Given the description of an element on the screen output the (x, y) to click on. 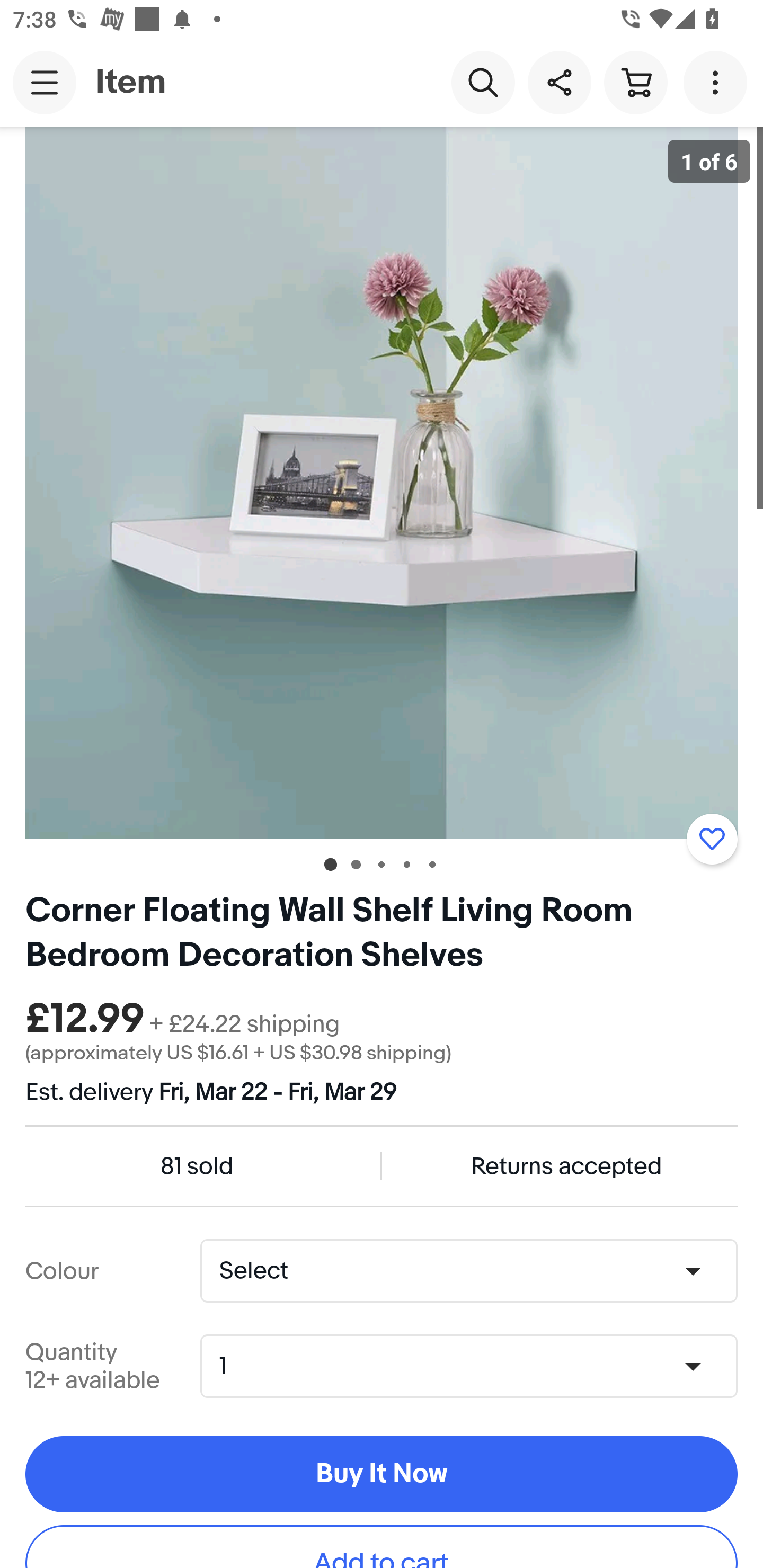
Main navigation, open (44, 82)
Search (482, 81)
Share this item (559, 81)
Cart button shopping cart (635, 81)
More options (718, 81)
Item image 1 of 6 (381, 482)
Add to watchlist (711, 838)
Colour,No selection Select (468, 1270)
Quantity,1,12+ available 1 (474, 1365)
Buy It Now (381, 1474)
